Given the description of an element on the screen output the (x, y) to click on. 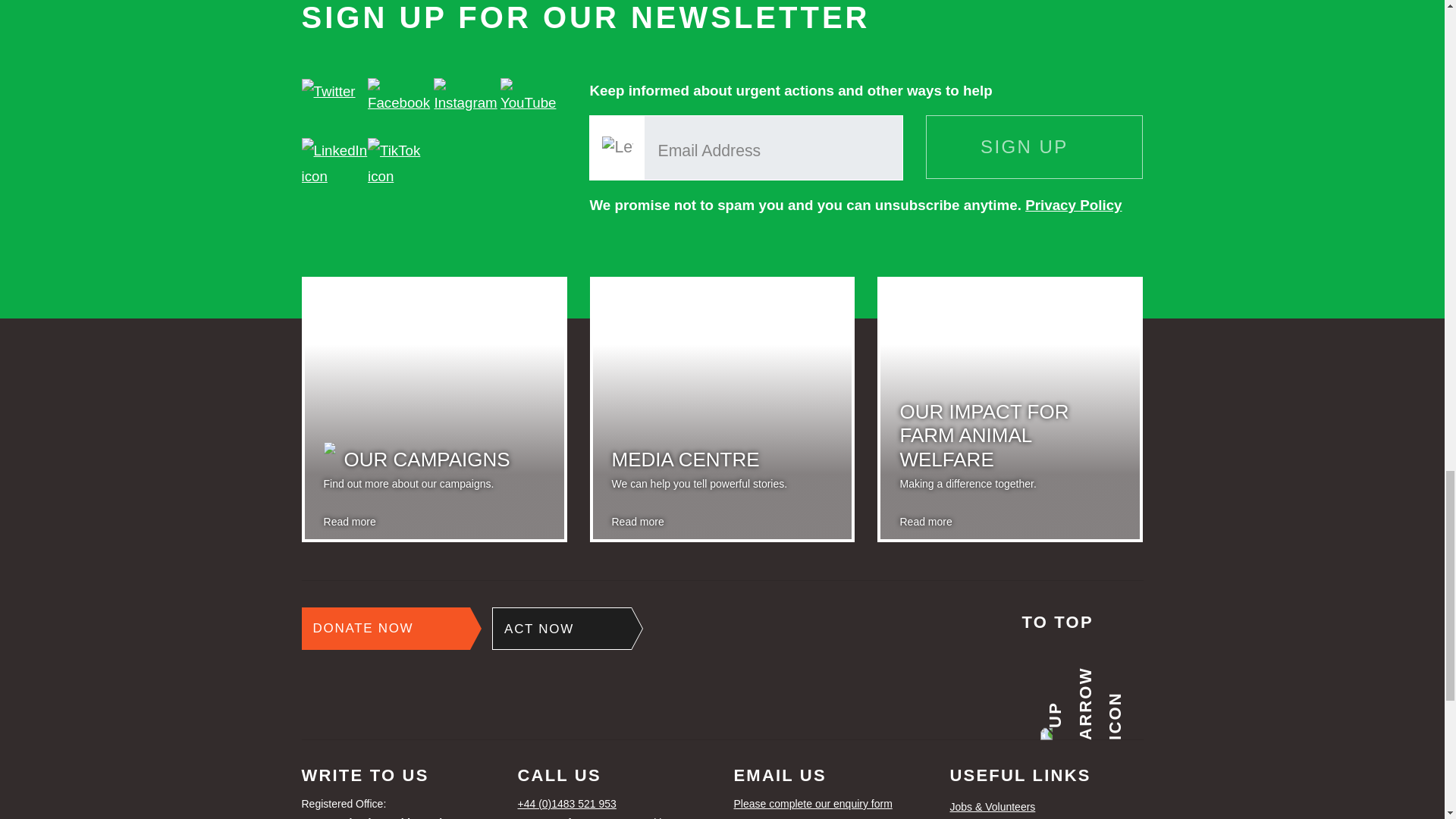
TO TOP (1082, 667)
Privacy Policy (1073, 204)
Please complete our enquiry form (433, 420)
Twitter (830, 804)
DONATE NOW (328, 90)
ACT NOW (385, 628)
TO TOP (561, 628)
